Given the description of an element on the screen output the (x, y) to click on. 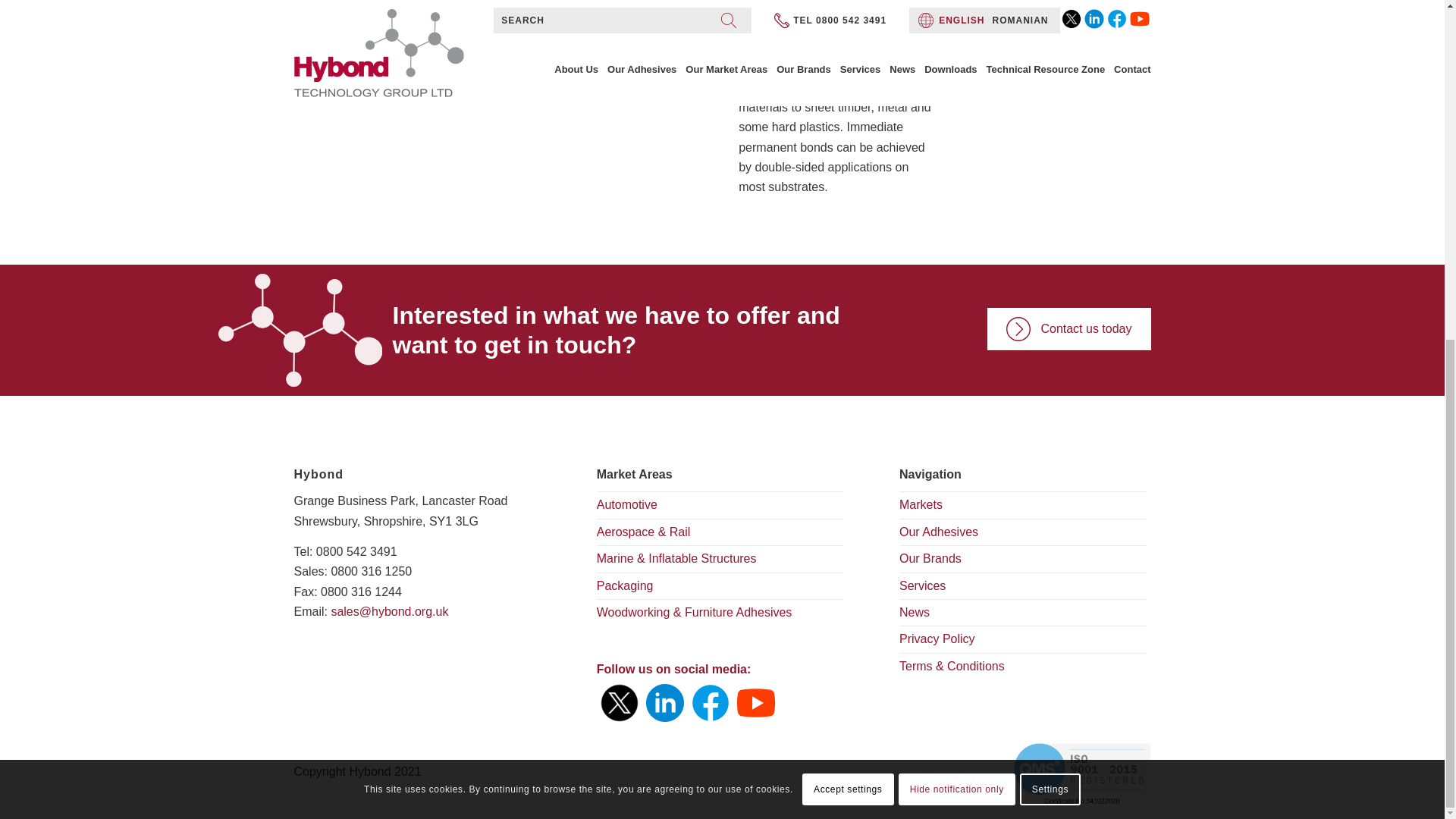
ISO-9001-2015-badge-white (1082, 772)
